Given the description of an element on the screen output the (x, y) to click on. 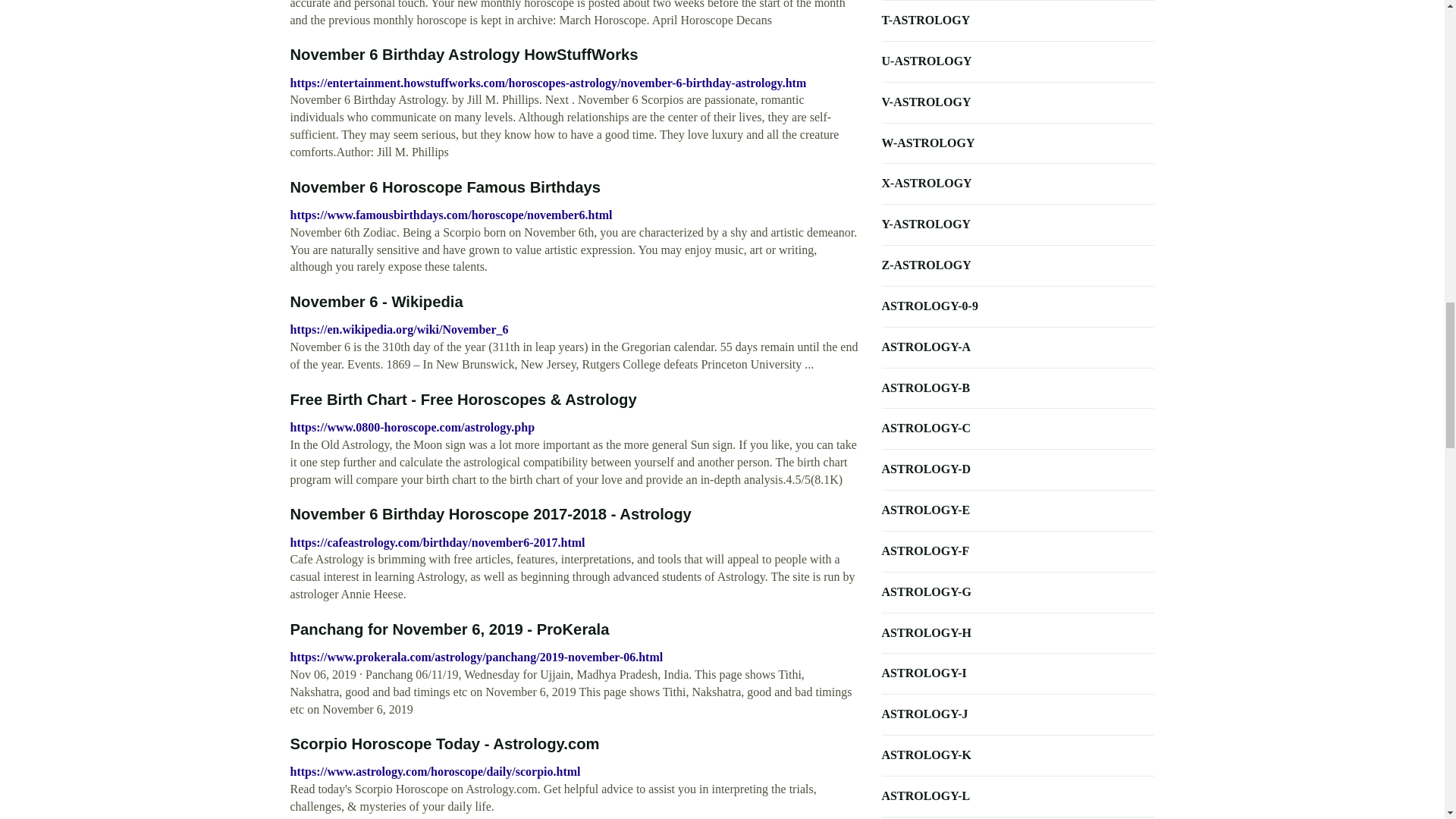
Scorpio Horoscope Today - Astrology.com (443, 743)
November 6 Horoscope Famous Birthdays (444, 187)
November 6 - Wikipedia (376, 301)
November 6 Birthday Horoscope 2017-2018 - Astrology (489, 514)
Panchang for November 6, 2019 - ProKerala (448, 629)
November 6 Birthday Astrology HowStuffWorks (463, 54)
